Given the description of an element on the screen output the (x, y) to click on. 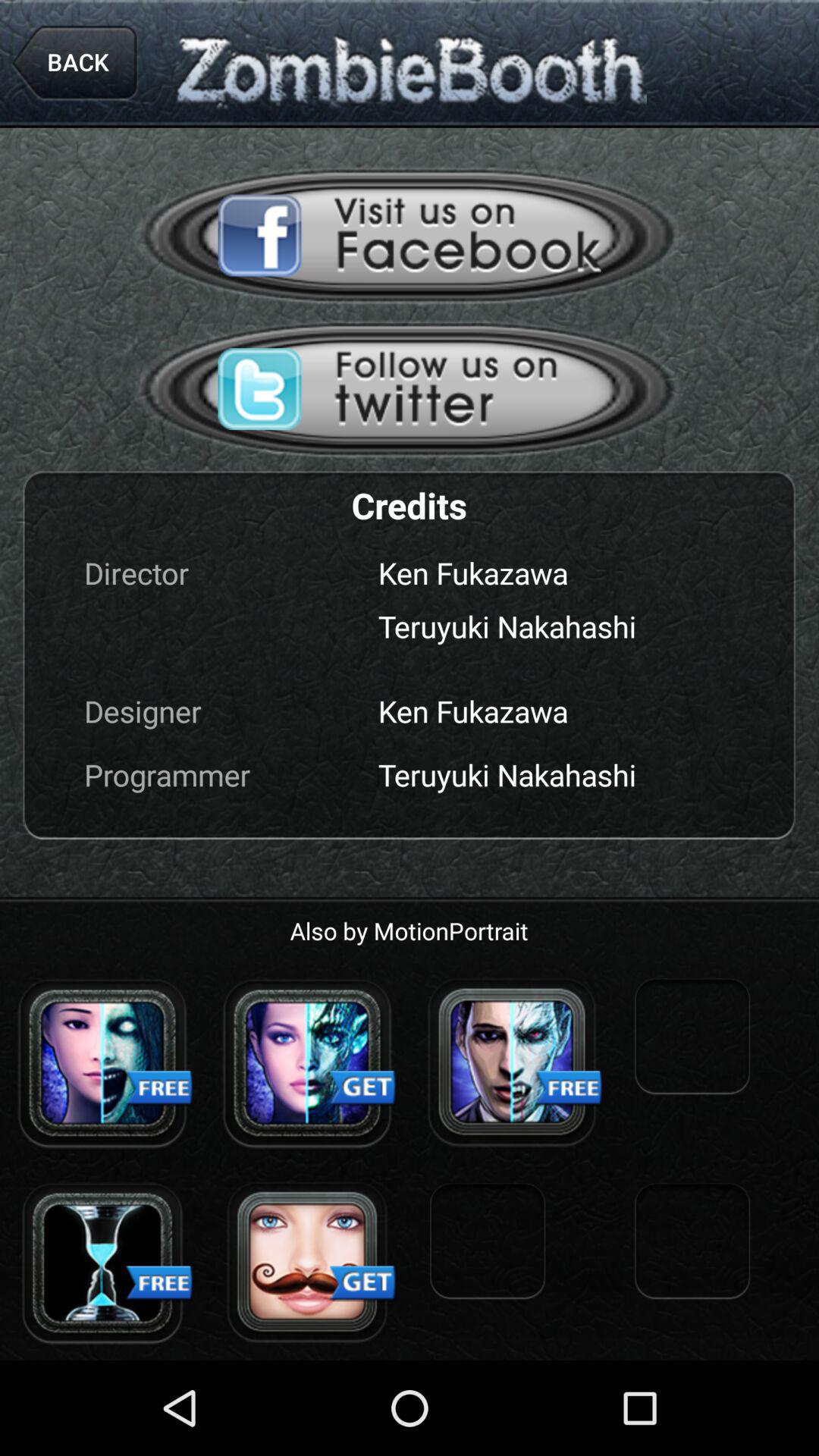
chose another game option (102, 1062)
